Given the description of an element on the screen output the (x, y) to click on. 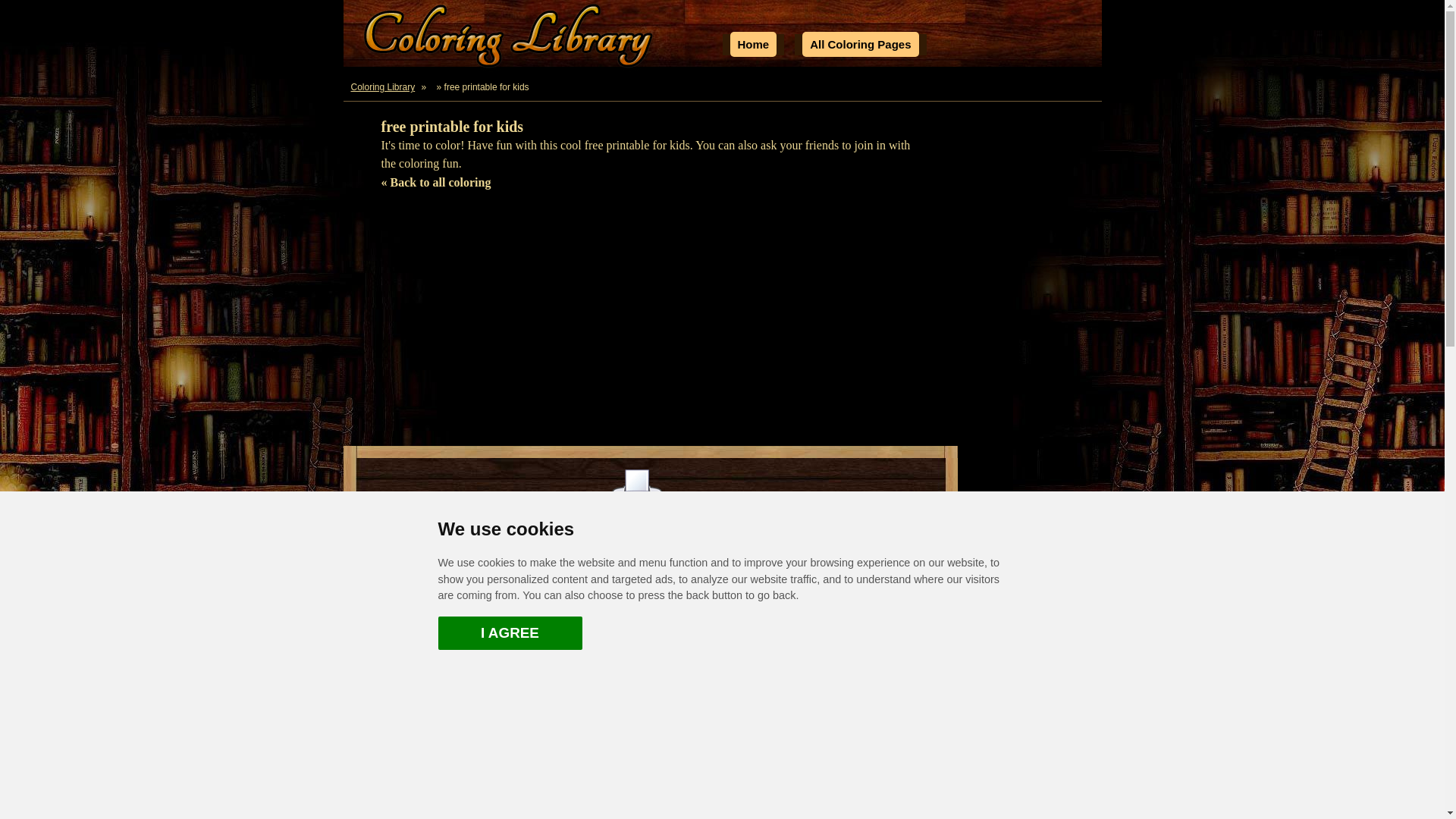
Coloring Library (383, 86)
Coloring pages and sheets (860, 43)
Free printable coloring pages (752, 43)
Home (752, 43)
Back to all  coloring (435, 182)
Coloring Library Home (509, 38)
Coloring Library (383, 86)
Print this  free printable for kids (637, 496)
I AGREE (510, 633)
All Coloring Pages (860, 43)
